Given the description of an element on the screen output the (x, y) to click on. 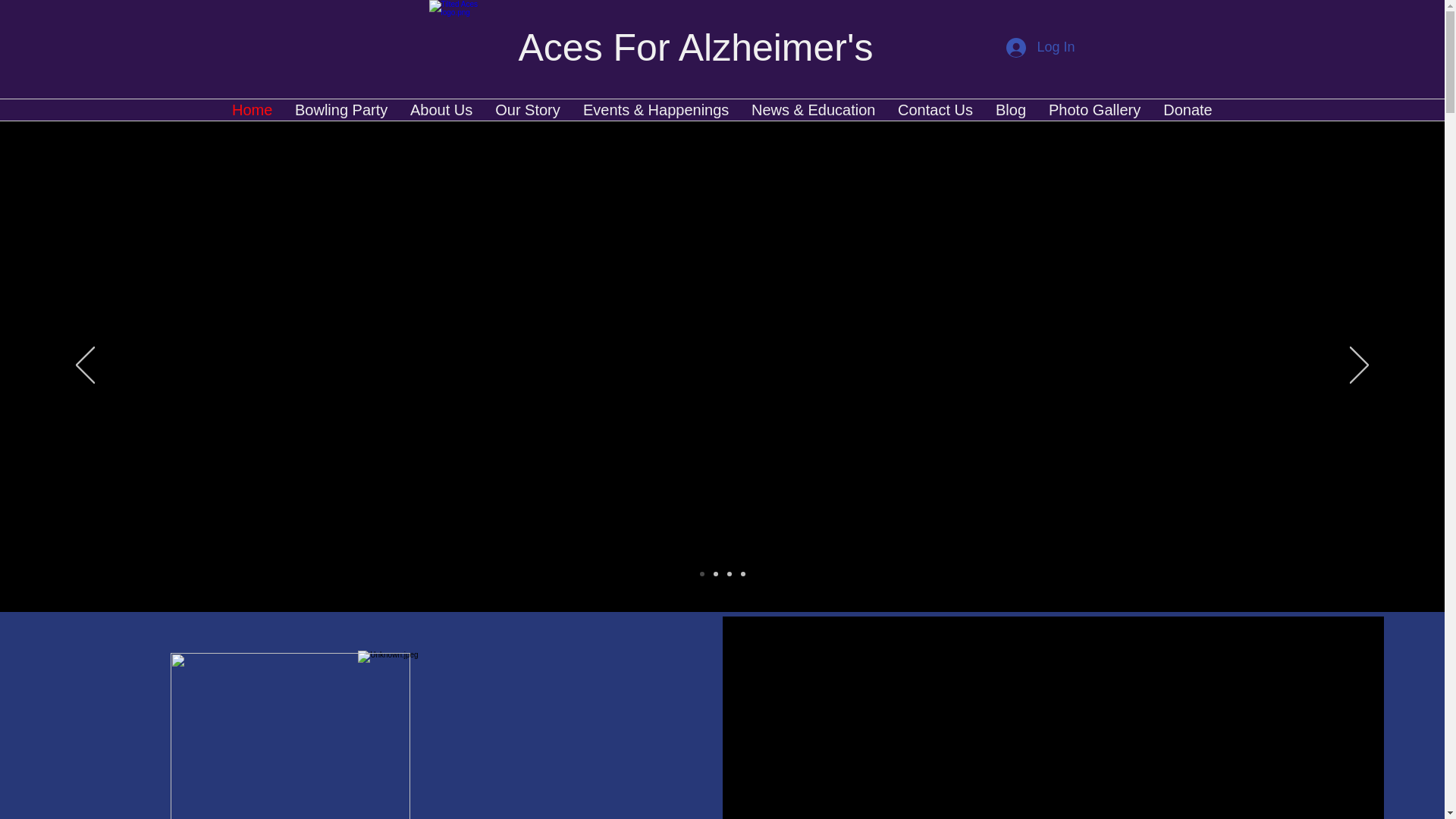
Our Story (527, 108)
About Us (440, 108)
Donate (1187, 108)
Photo Gallery (1093, 108)
Home (252, 108)
Aces For Alzheimer's (695, 47)
Bowling Party (340, 108)
Log In (1039, 47)
Blog (1010, 108)
Contact Us (935, 108)
